Given the description of an element on the screen output the (x, y) to click on. 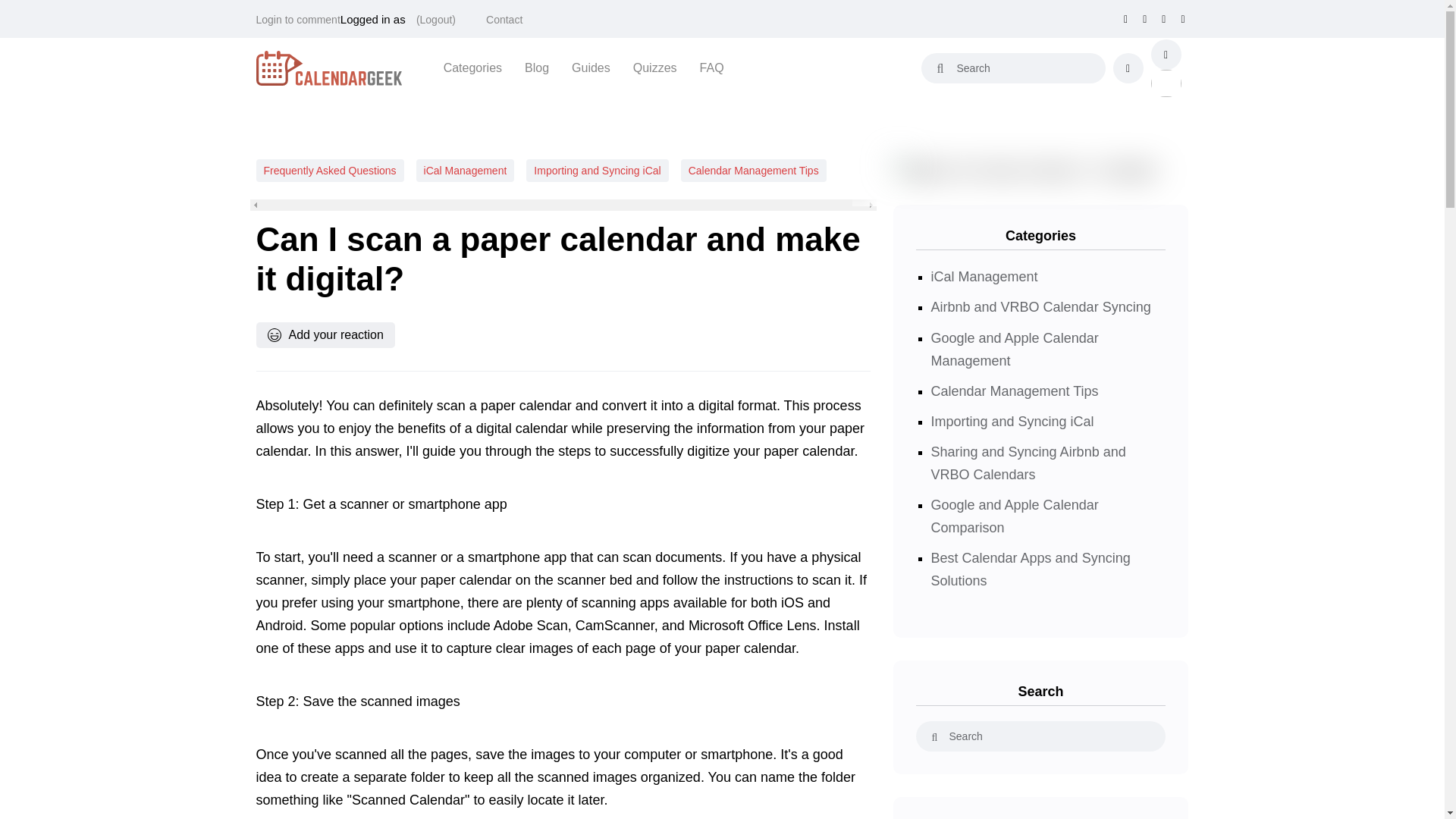
Contact (504, 19)
Categories (473, 67)
Login to comment (298, 19)
